Given the description of an element on the screen output the (x, y) to click on. 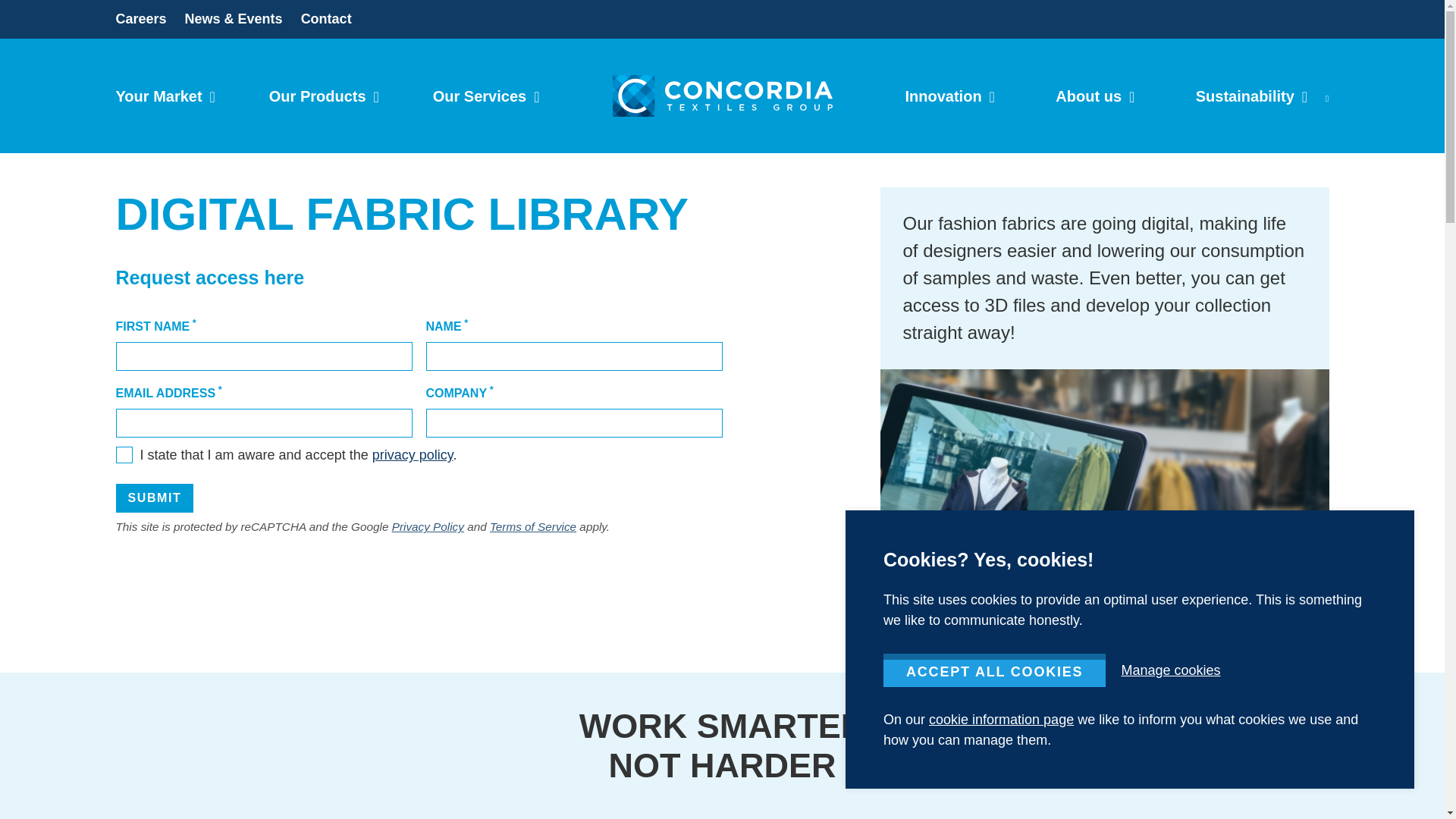
Submit (154, 498)
Our Products (323, 95)
Careers (140, 19)
Contact (326, 19)
Here you can find the services we offer (486, 95)
Your Market (164, 95)
